Given the description of an element on the screen output the (x, y) to click on. 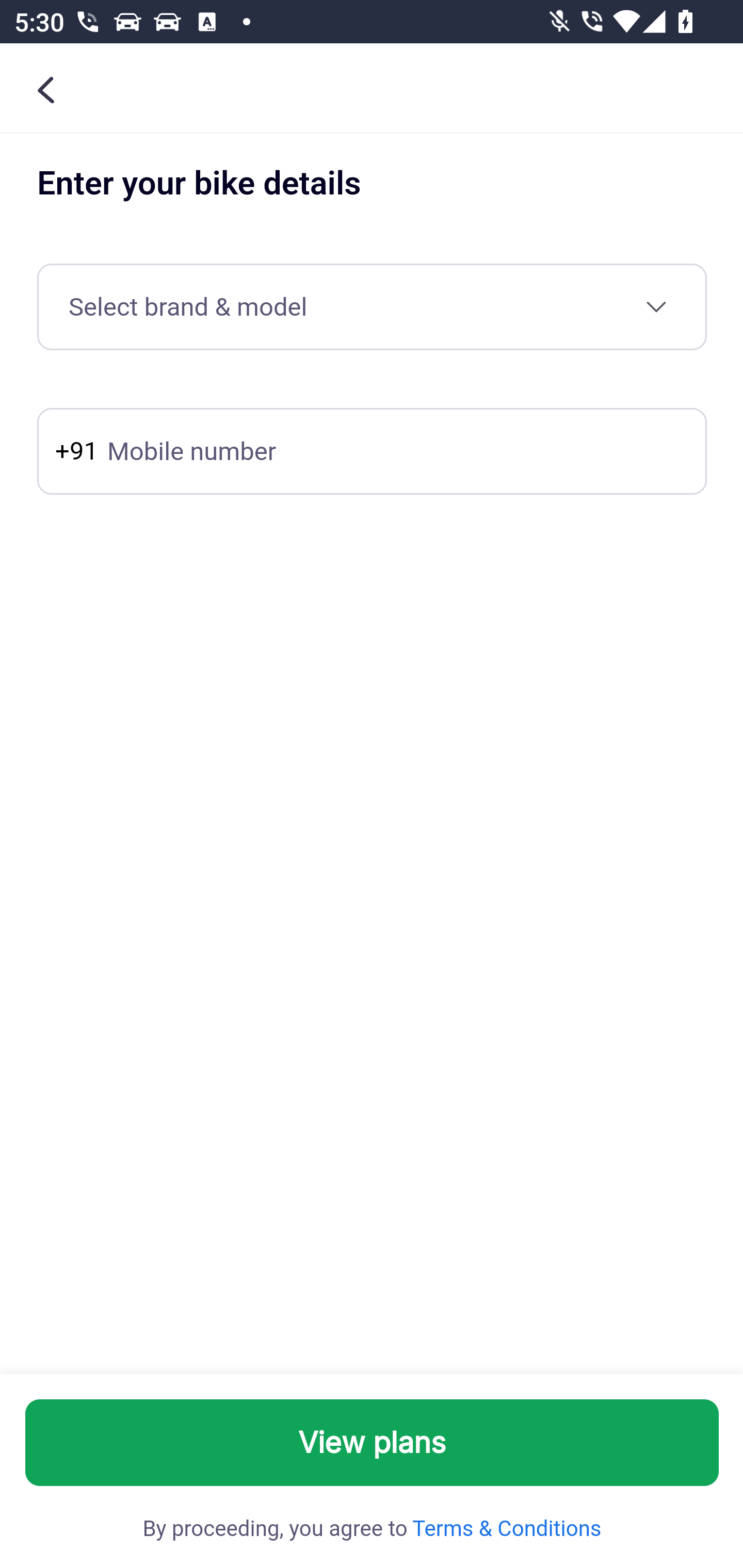
Mobile number  (372, 451)
View plans (372, 1443)
 Terms & Conditions (504, 1529)
